Given the description of an element on the screen output the (x, y) to click on. 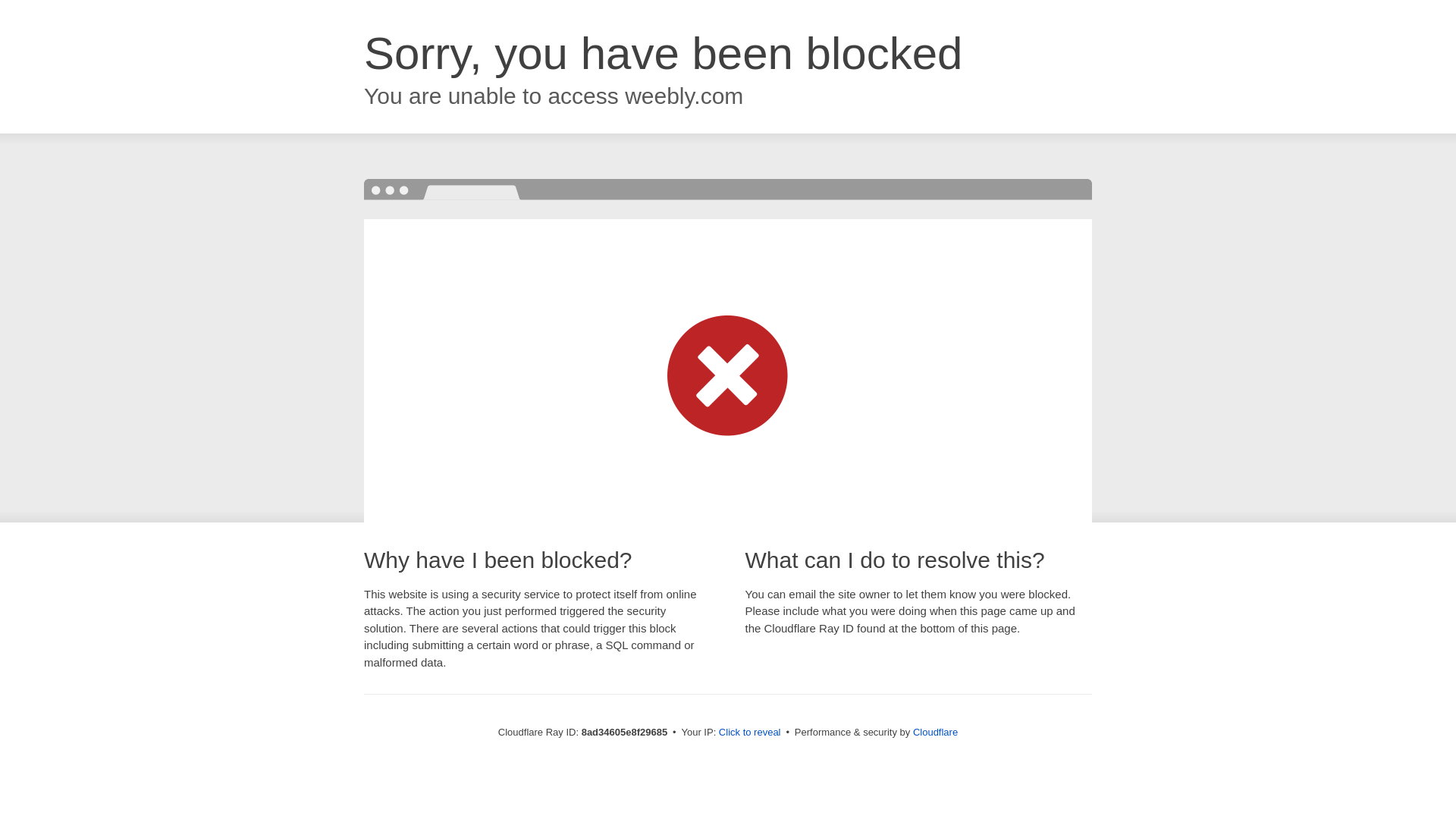
Cloudflare (935, 731)
Click to reveal (749, 732)
